Given the description of an element on the screen output the (x, y) to click on. 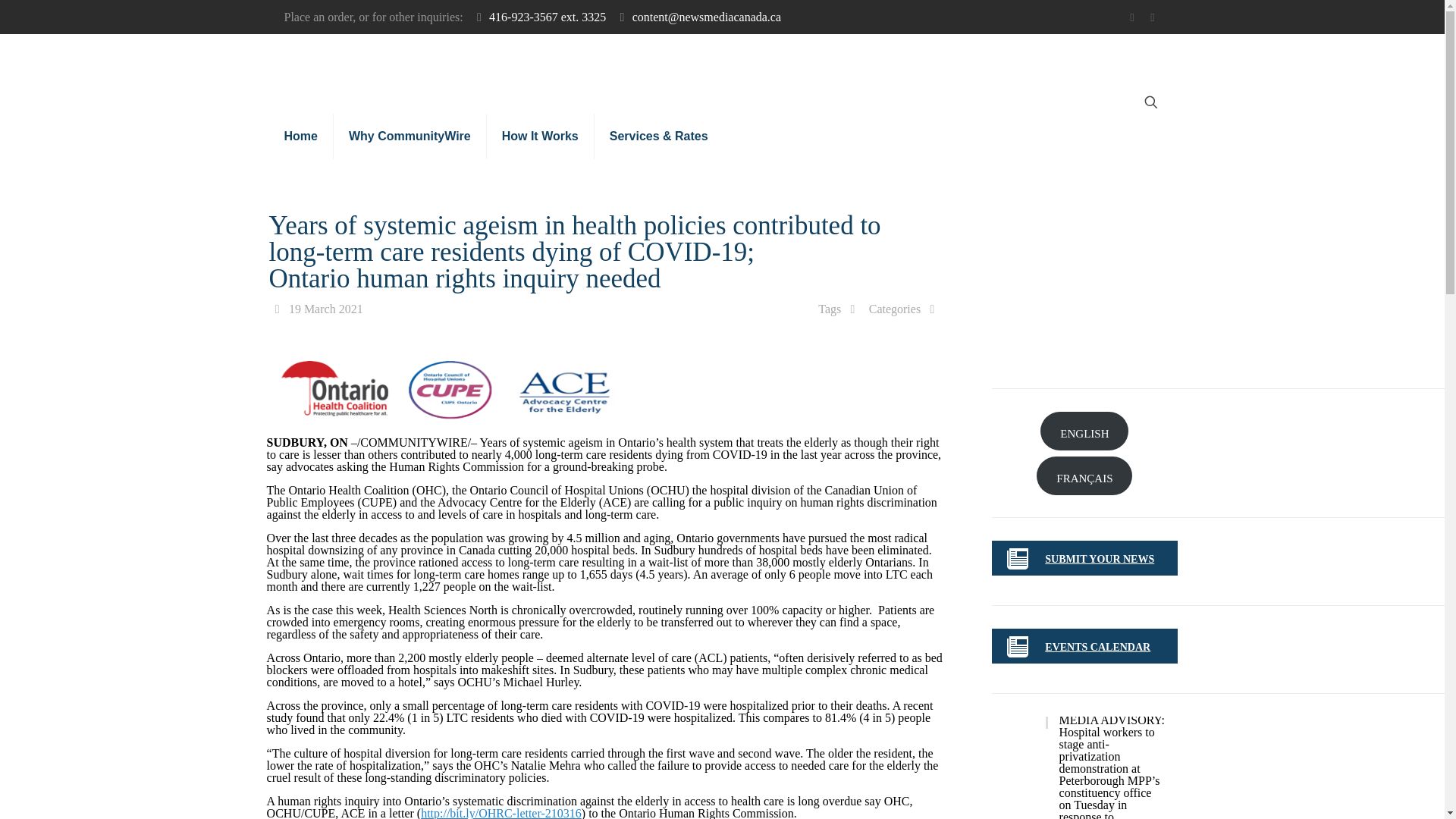
Twitter (1132, 17)
Home (300, 136)
EVENTS CALENDAR (1097, 646)
RSS (1152, 17)
ENGLISH (1084, 430)
416-923-3567 ext. 3325 (547, 16)
How It Works (540, 136)
CommunityWire (645, 68)
Why CommunityWire (409, 136)
SUBMIT YOUR NEWS (1099, 559)
